Given the description of an element on the screen output the (x, y) to click on. 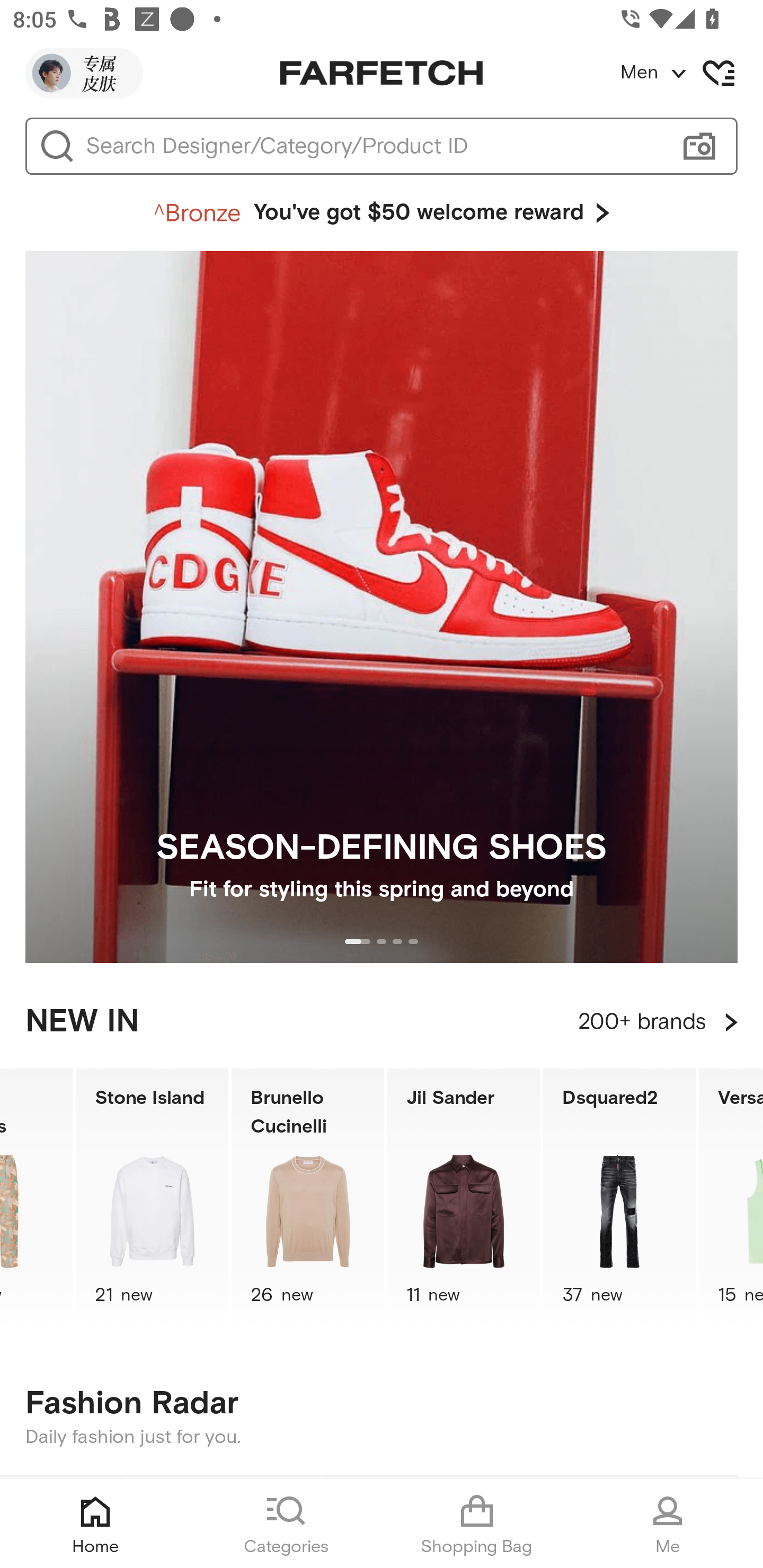
Men (691, 72)
Search Designer/Category/Product ID (373, 146)
You've got $50 welcome reward (381, 213)
NEW IN 200+ brands (381, 1021)
Stone Island 21  new (151, 1196)
Brunello Cucinelli 26  new (307, 1196)
Jil Sander 11  new (463, 1196)
Dsquared2 37  new (619, 1196)
Categories (285, 1523)
Shopping Bag (476, 1523)
Me (667, 1523)
